Given the description of an element on the screen output the (x, y) to click on. 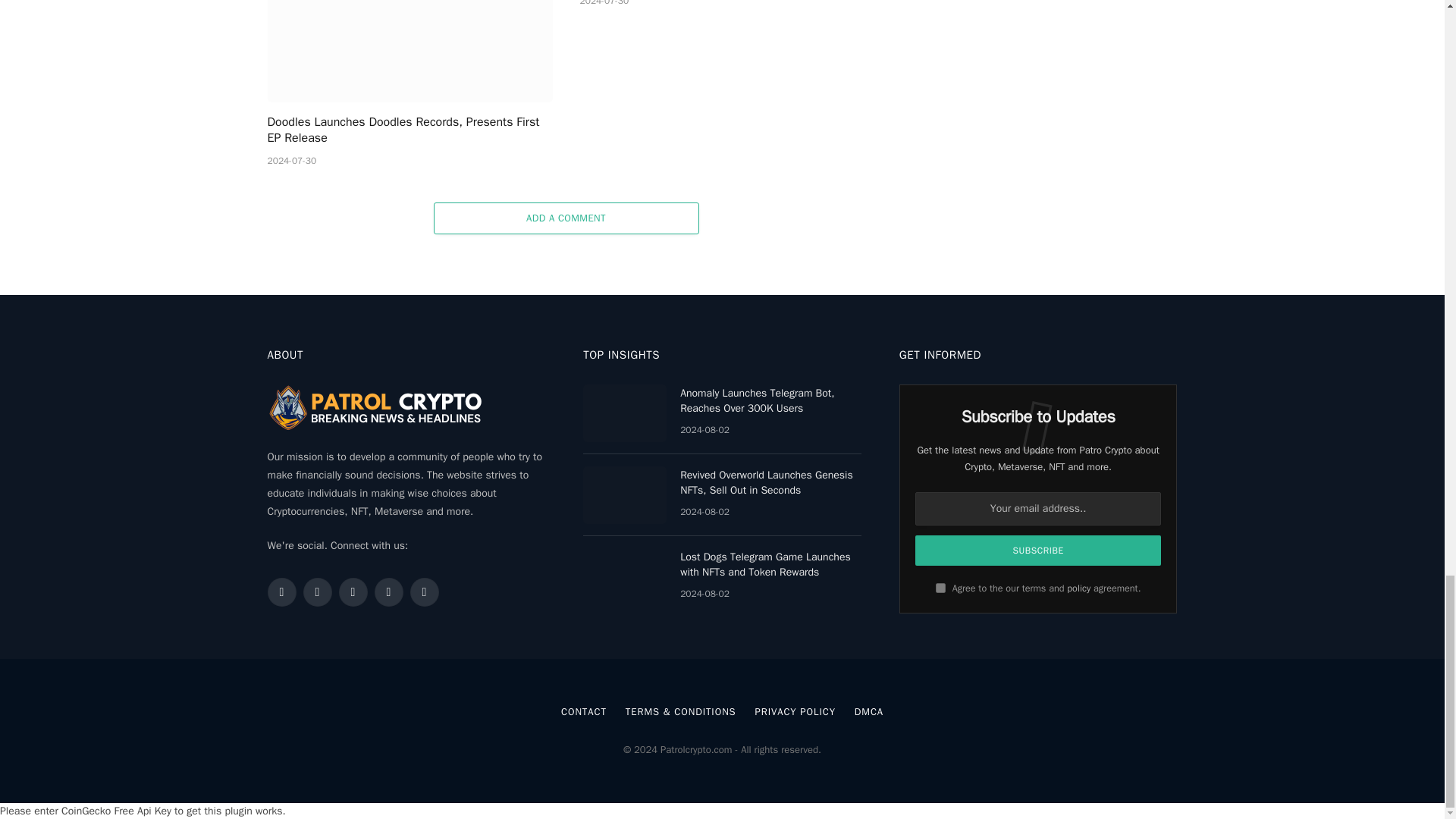
Subscribe (1038, 550)
on (940, 587)
